Given the description of an element on the screen output the (x, y) to click on. 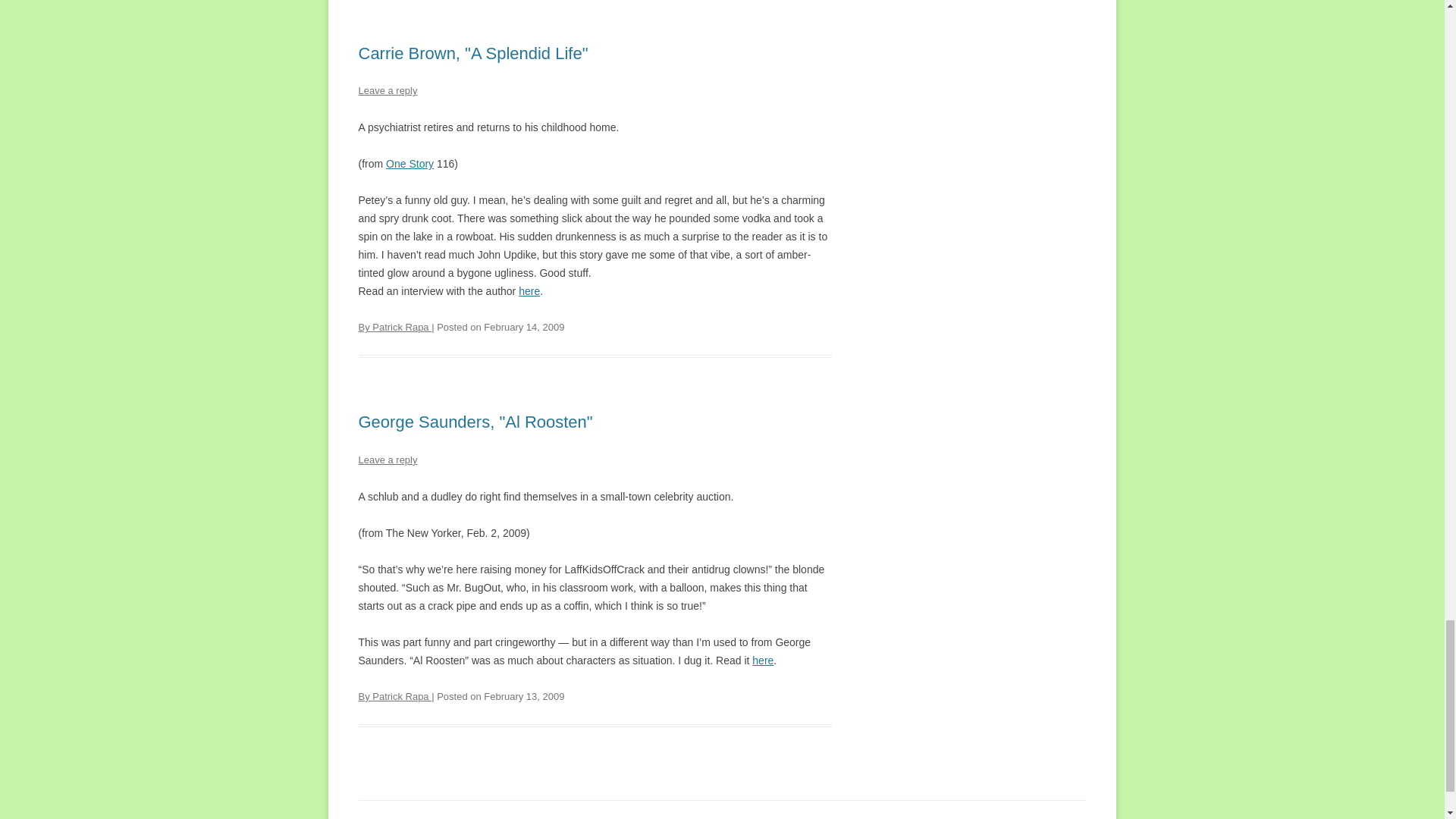
here (529, 291)
Leave a reply (387, 90)
George Saunders, "Al Roosten" (475, 421)
Leave a reply (387, 460)
By Patrick Rapa (394, 326)
One Story (409, 163)
here (762, 660)
Carrie Brown, "A Splendid Life" (473, 53)
